Given the description of an element on the screen output the (x, y) to click on. 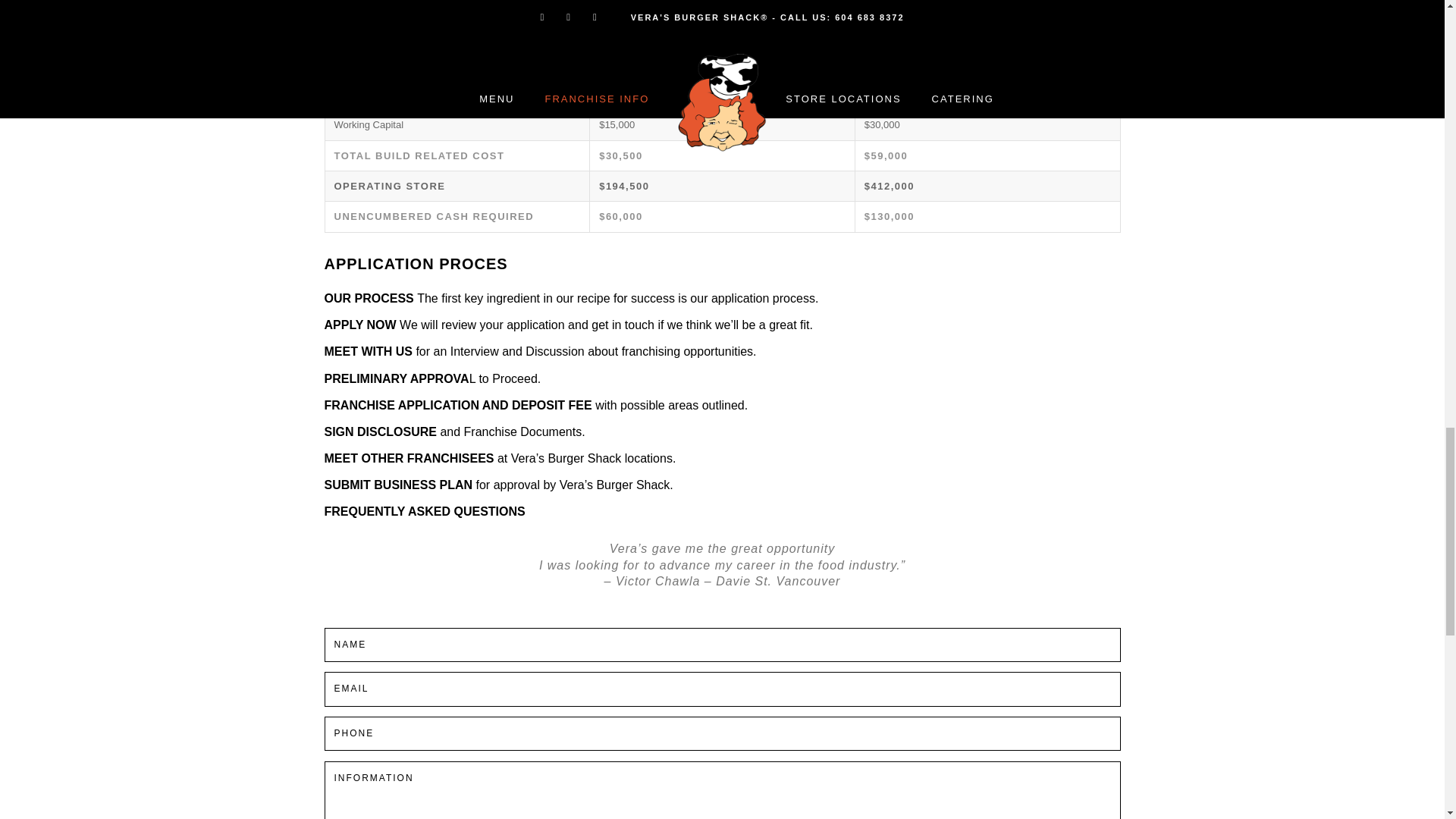
APPLY NOW (362, 324)
FREQUENTLY ASKED QUESTIONS (424, 511)
